Given the description of an element on the screen output the (x, y) to click on. 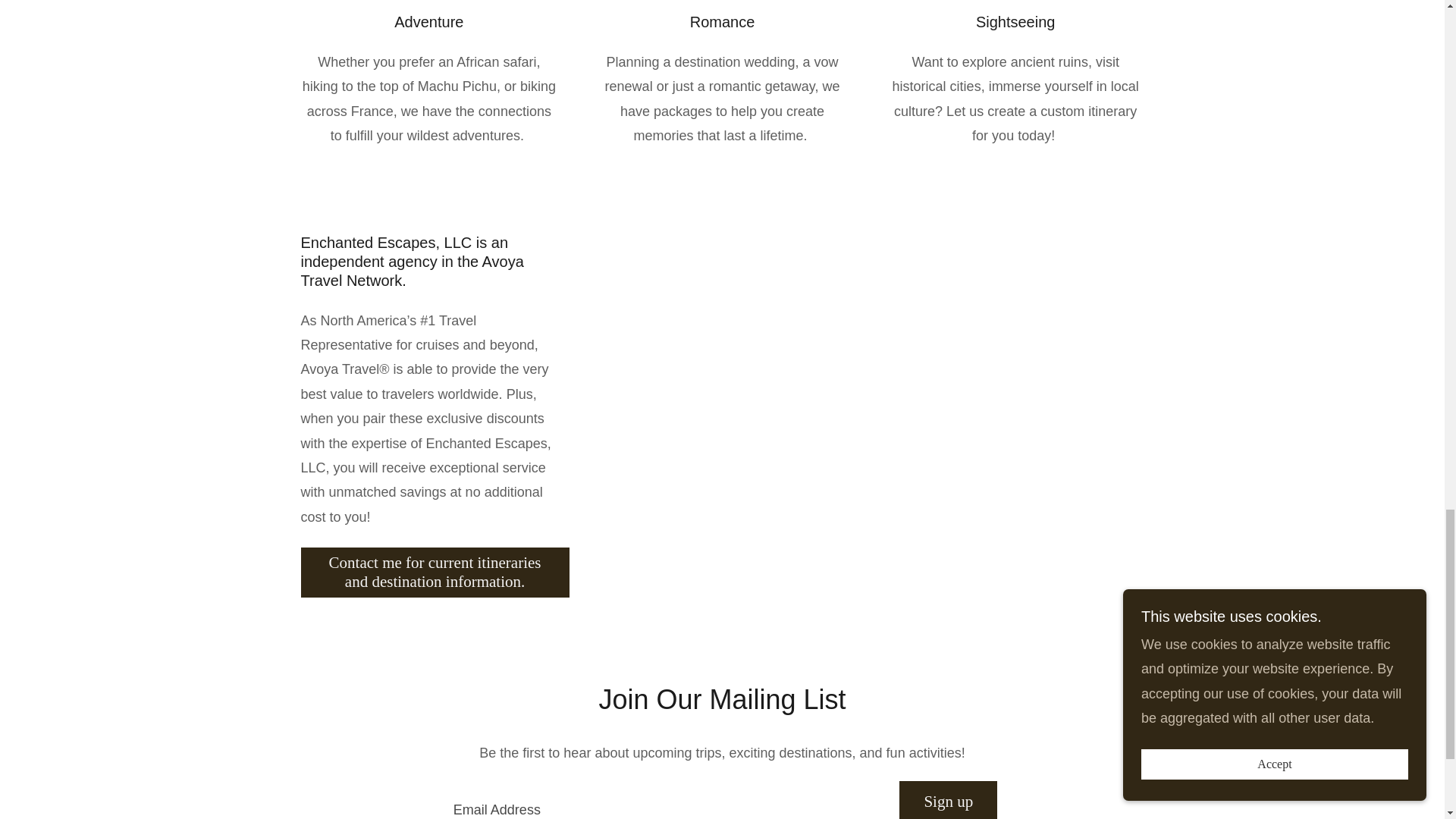
Sign up (948, 800)
